Given the description of an element on the screen output the (x, y) to click on. 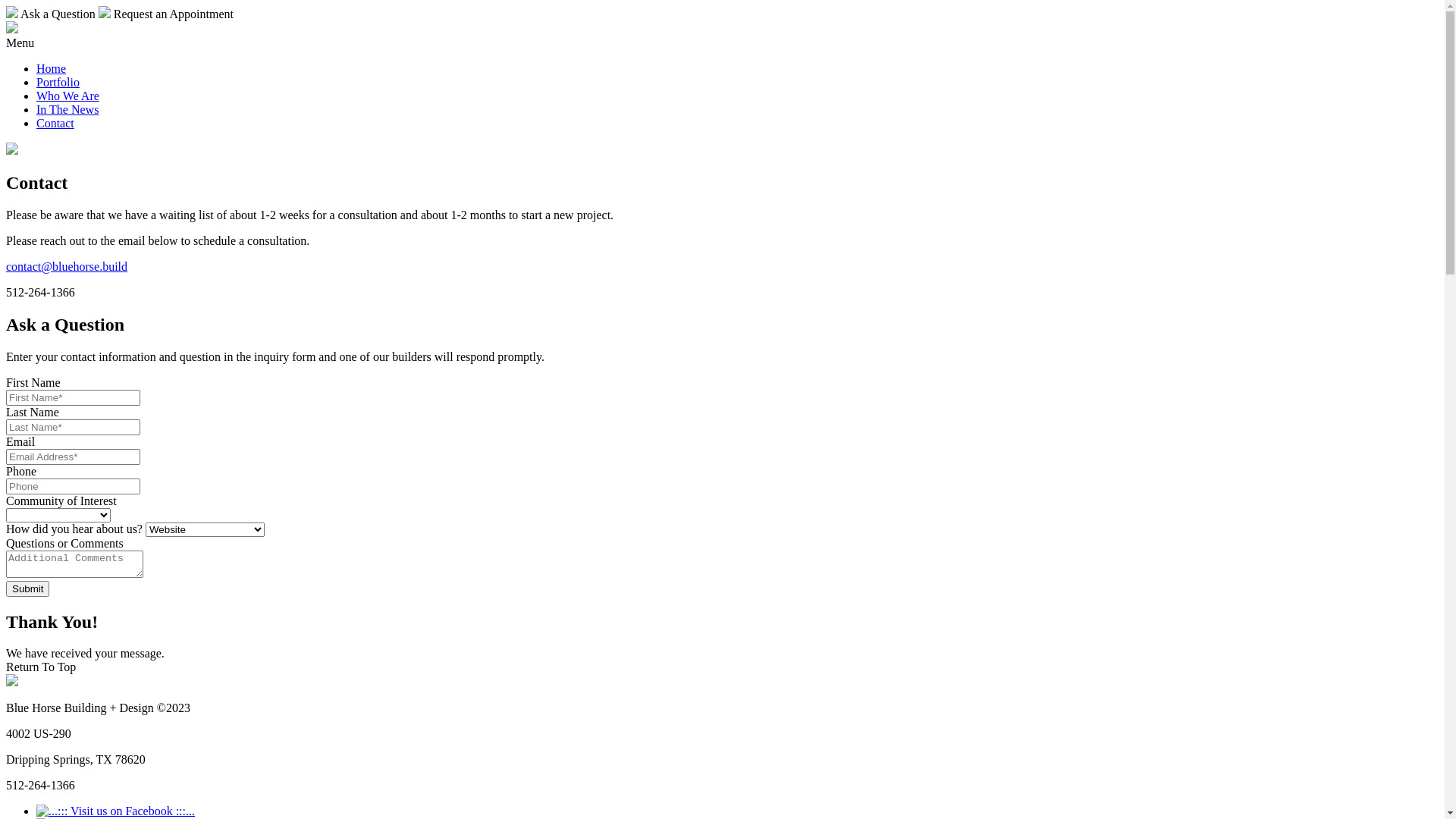
...::: Return To Blue Horse Building + Design :::... Element type: hover (12, 28)
Contact Element type: text (55, 122)
Portfolio Element type: text (57, 81)
Request an Appointment Element type: text (165, 13)
Submit Element type: text (27, 588)
In The News Element type: text (67, 109)
Ask a Question Element type: text (50, 13)
... Blue Horse Building + Design :::... Element type: hover (12, 681)
Home Element type: text (50, 68)
contact@bluehorse.build Element type: text (66, 266)
Who We Are Element type: text (67, 95)
...::: Visit us on Facebook :::... Element type: hover (115, 811)
